Given the description of an element on the screen output the (x, y) to click on. 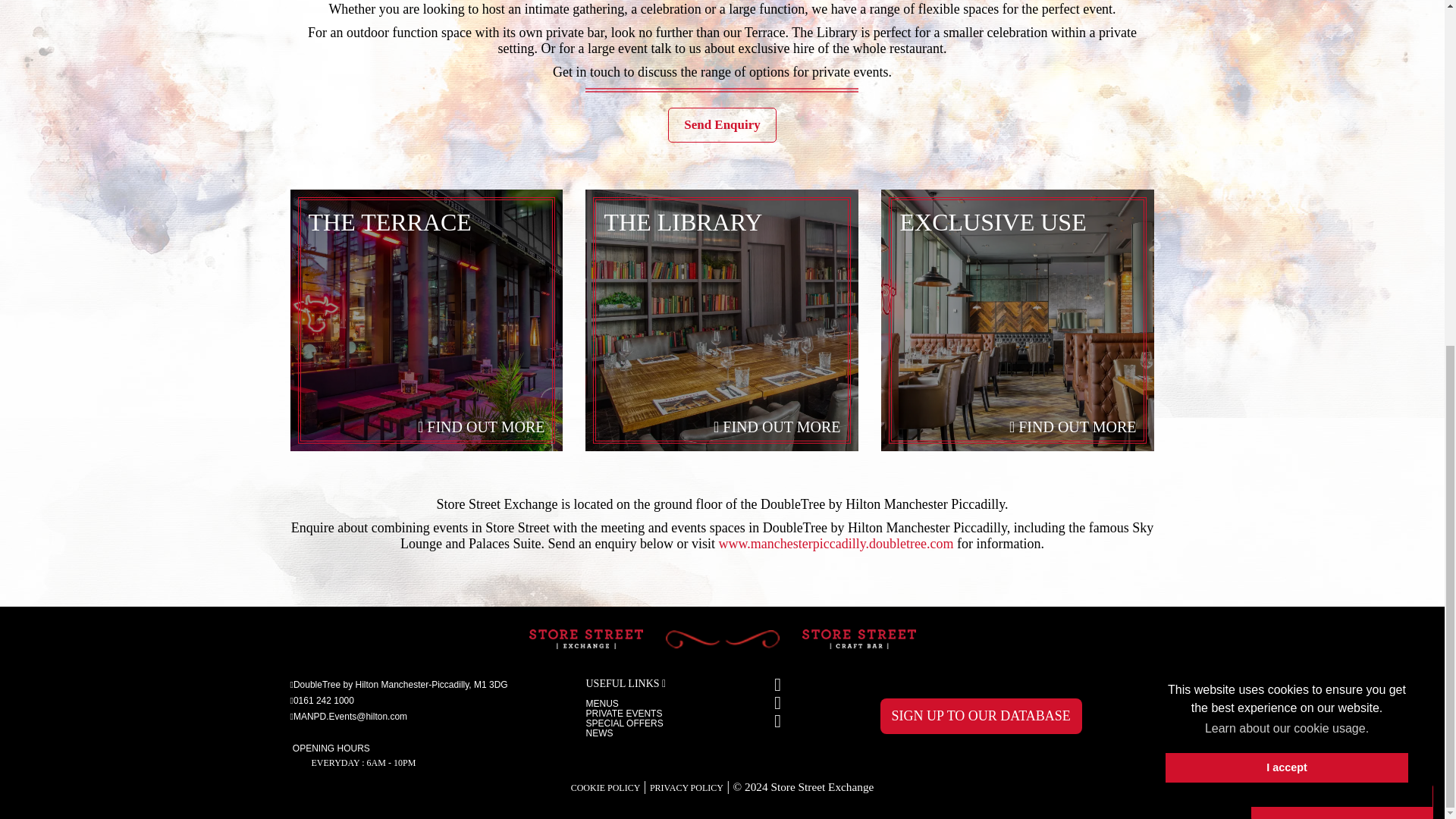
 Logo (584, 640)
I accept (1286, 173)
Store Street Craft Bar logo (858, 640)
Learn about our cookie usage. (1286, 134)
